Given the description of an element on the screen output the (x, y) to click on. 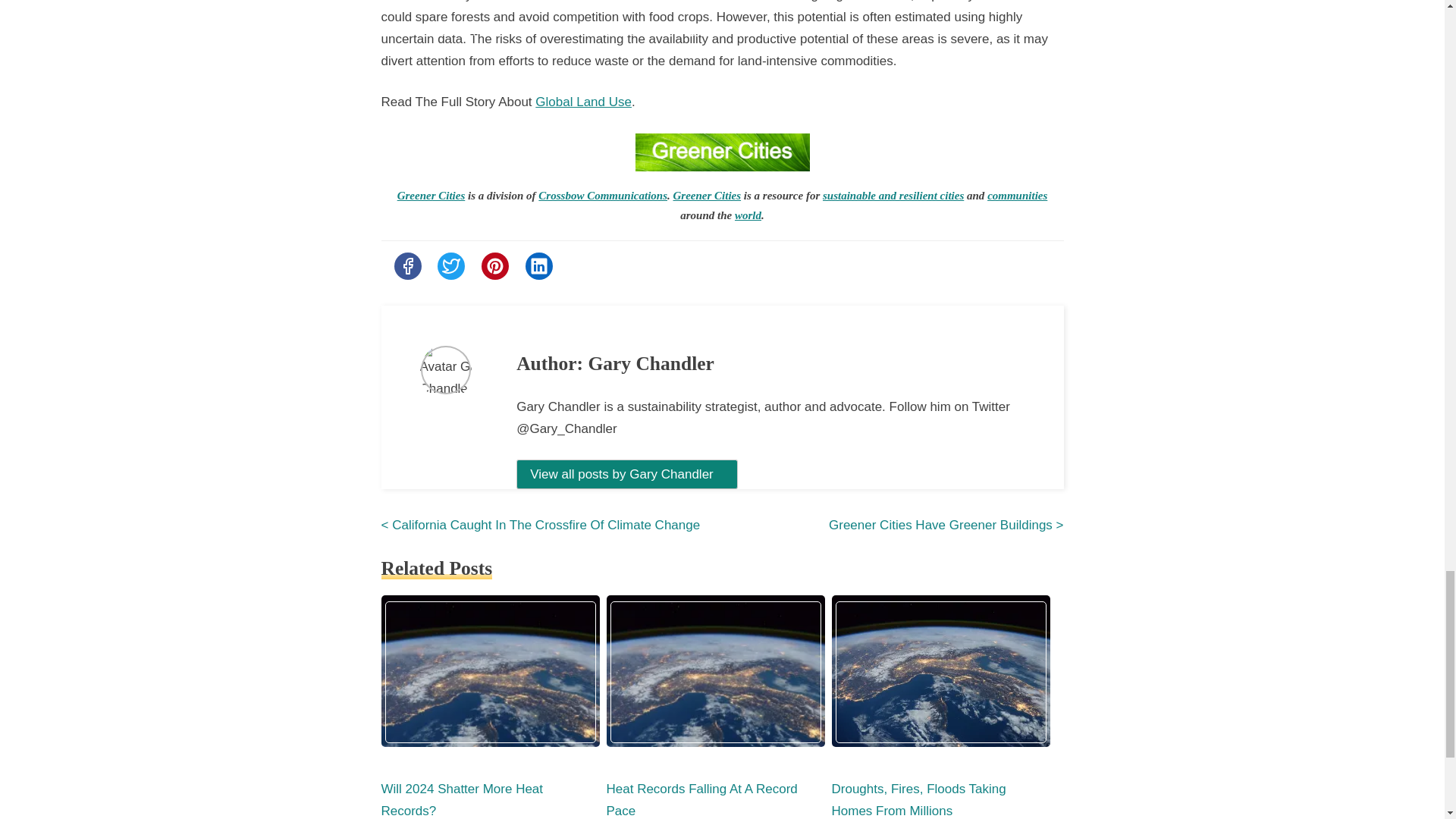
communities (1016, 195)
sustainable and resilient cities (892, 195)
Crossbow Communications (602, 195)
Greener Cities (431, 195)
Global Land Use (583, 101)
Share this post on Pinterest (494, 266)
Share this post on Facebook (408, 266)
Share this post on Twitter (451, 266)
Share this post on Linkedin (539, 266)
Greener Cities (706, 195)
